Given the description of an element on the screen output the (x, y) to click on. 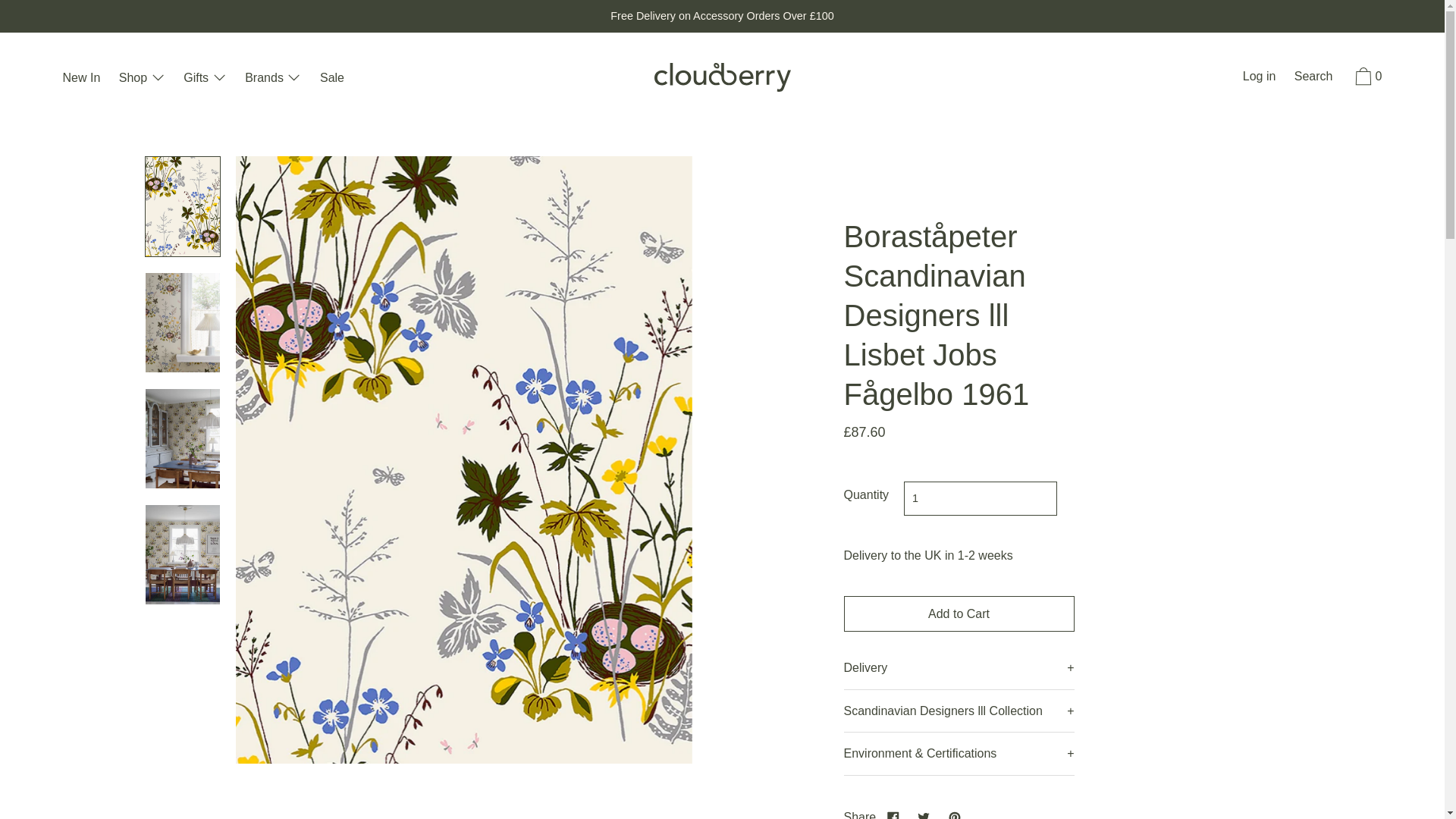
Pin on Pinterest (954, 812)
Sale (332, 78)
1 (980, 498)
Search (1313, 77)
New In (81, 78)
Brands (272, 78)
Share on Facebook (893, 812)
Shop (142, 78)
0 (1366, 78)
Gifts (205, 78)
